Given the description of an element on the screen output the (x, y) to click on. 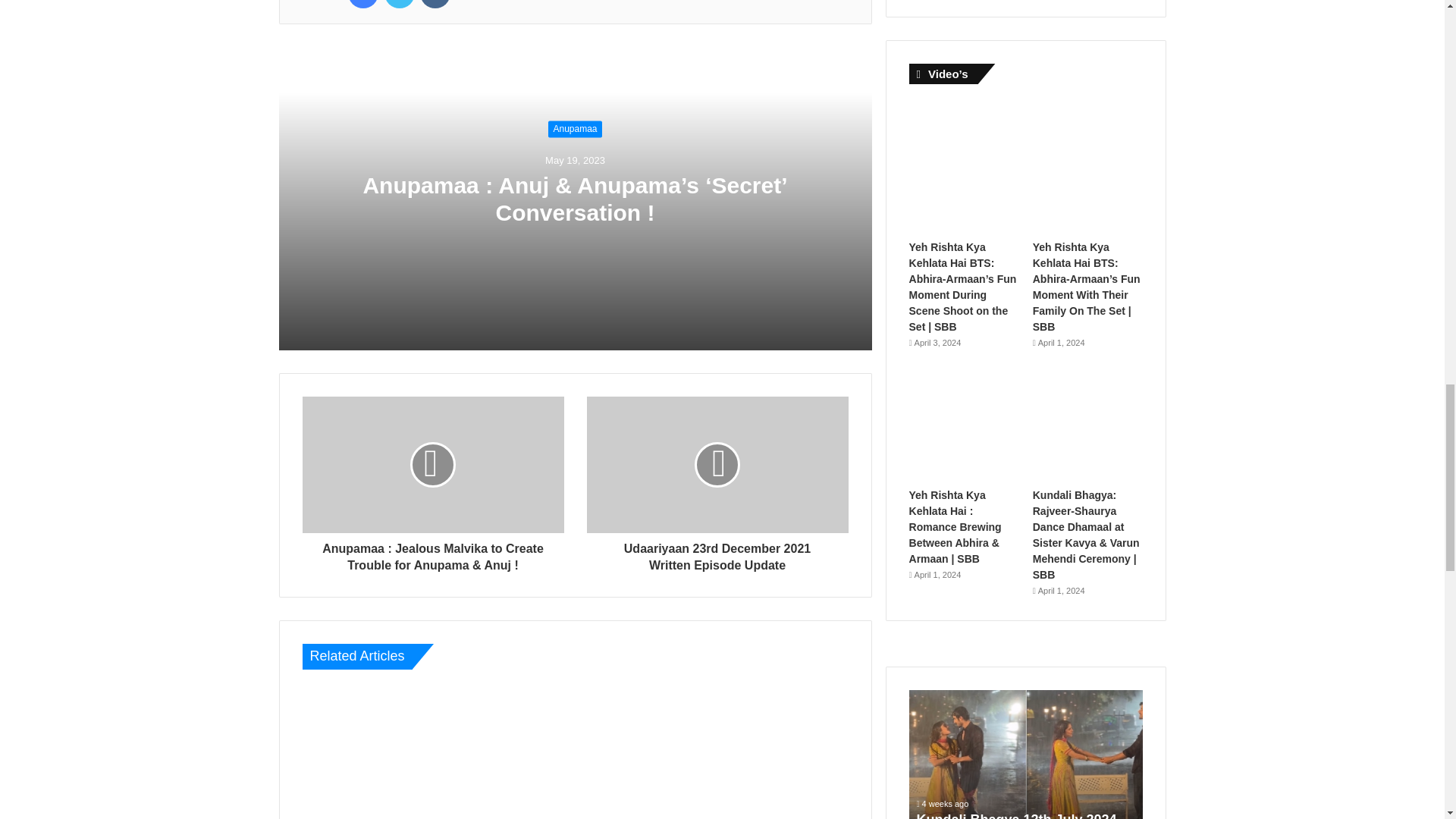
Facebook (362, 4)
VKontakte (434, 4)
Twitter (399, 4)
